Given the description of an element on the screen output the (x, y) to click on. 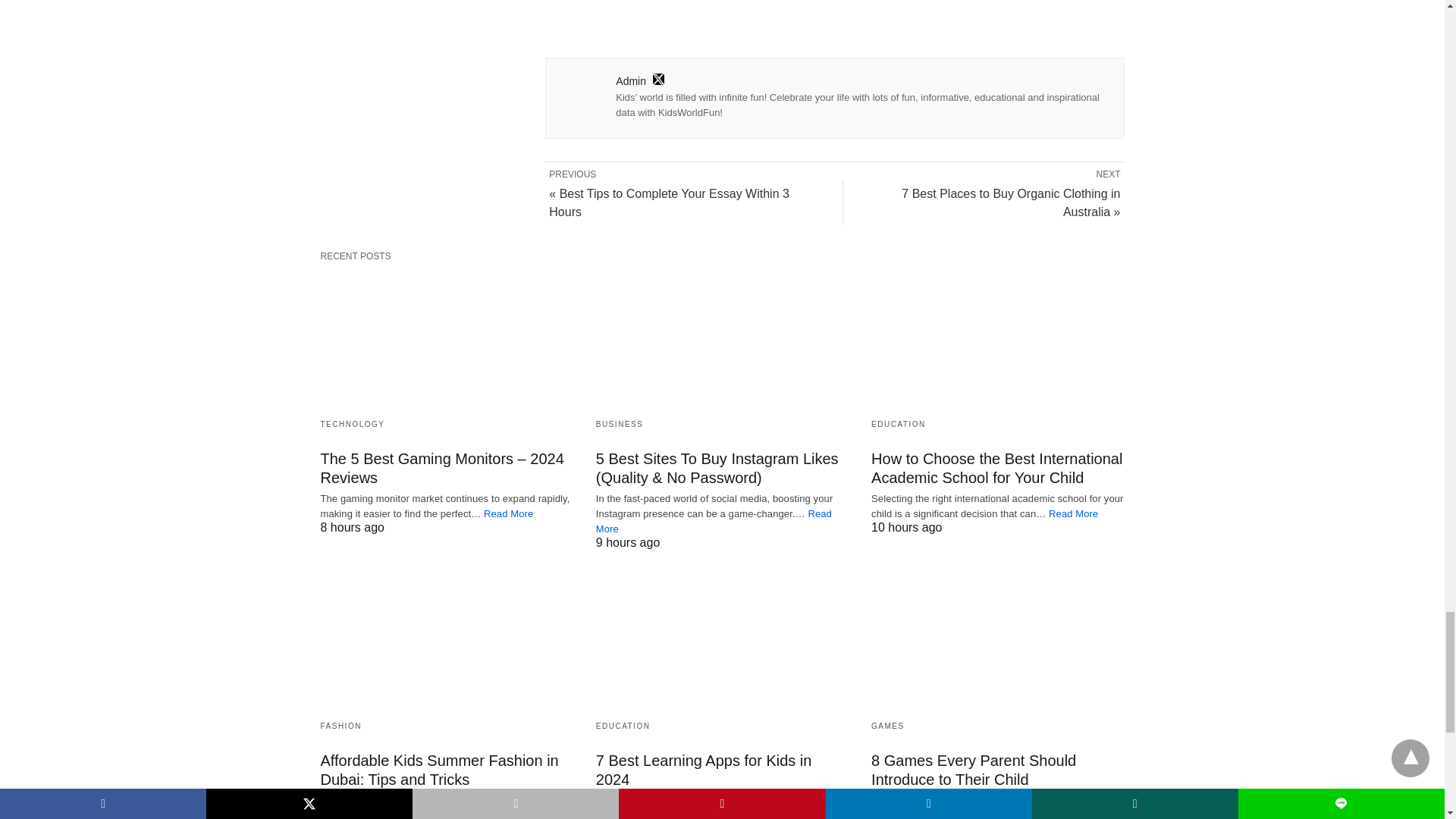
Admin (630, 80)
